Given the description of an element on the screen output the (x, y) to click on. 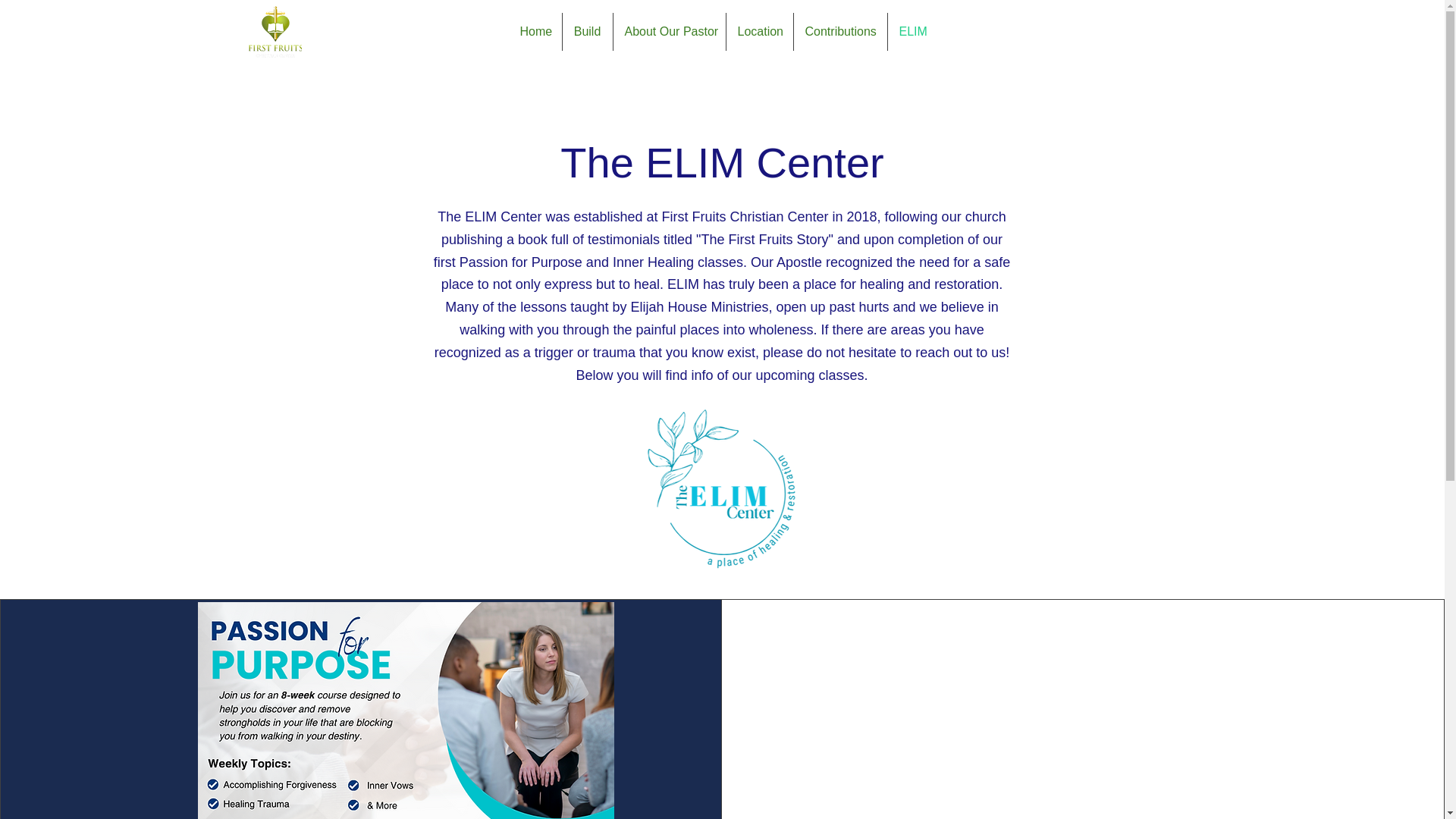
Location (759, 31)
About Our Pastor (668, 31)
ELIM (910, 31)
Contributions (839, 31)
Home (534, 31)
Build (587, 31)
